Given the description of an element on the screen output the (x, y) to click on. 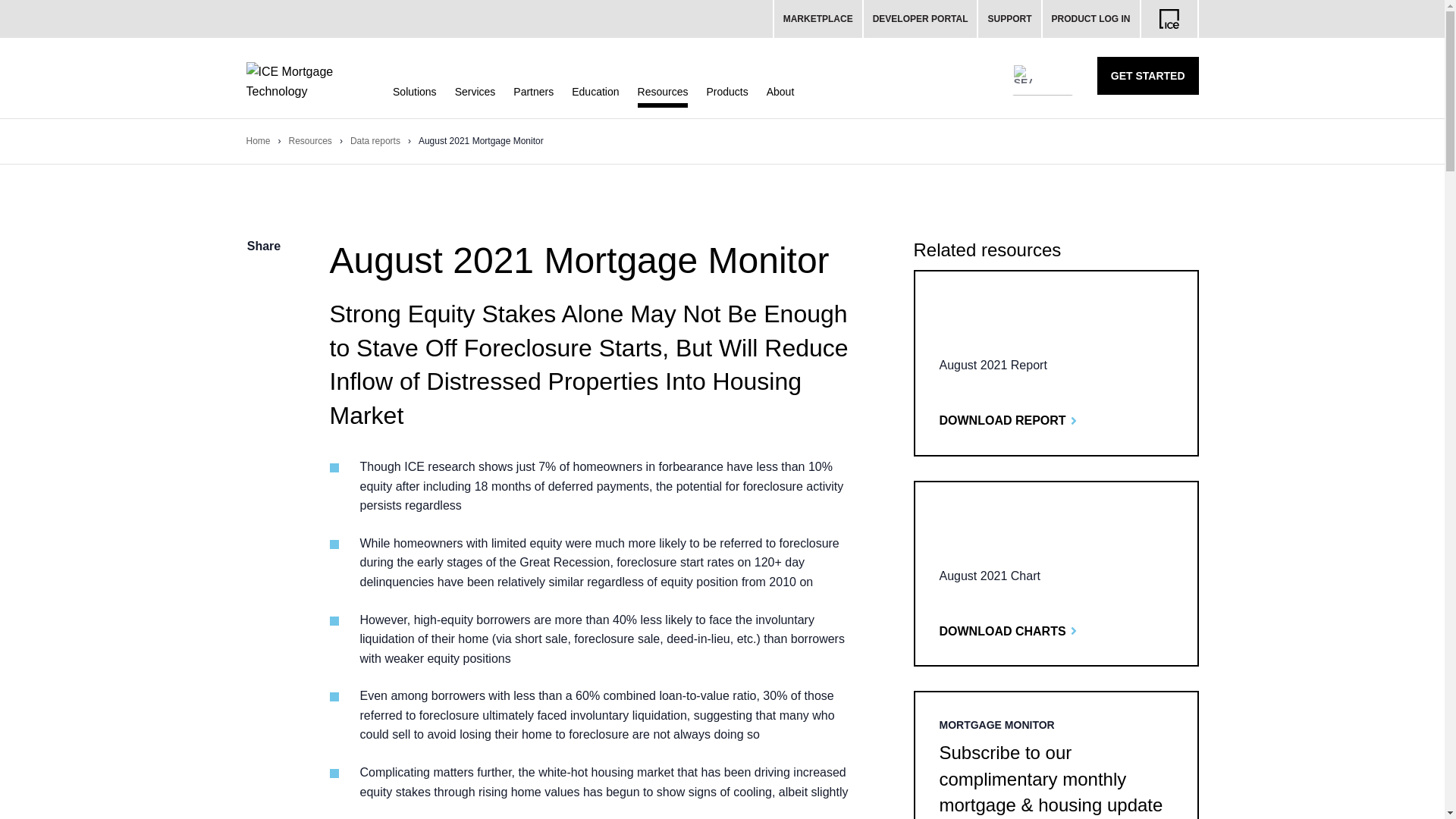
MARKETPLACE (818, 18)
PRODUCT LOG IN (1091, 18)
ICE Mortgage Technology's Facebook (263, 313)
SUPPORT (1010, 18)
ICE Mortgage Technology's LinkedIn (263, 373)
ICE Mortgage Technology's Twitter (263, 343)
Solutions (414, 91)
Services (475, 91)
DEVELOPER PORTAL (920, 18)
Partners (533, 91)
